Given the description of an element on the screen output the (x, y) to click on. 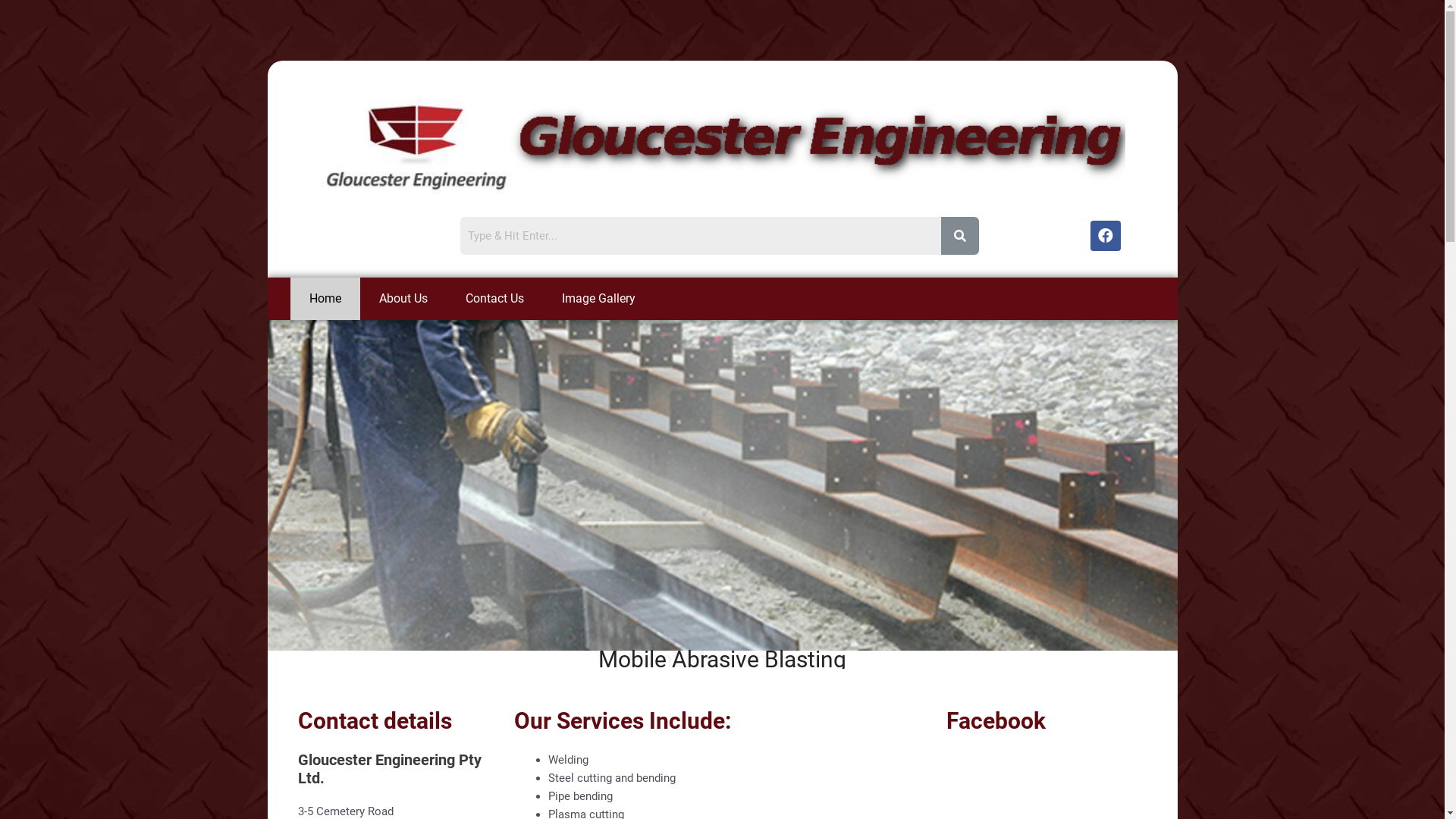
About Us Element type: text (402, 298)
Facebook Element type: text (1105, 235)
Contact Us Element type: text (493, 298)
Home Element type: text (324, 298)
Image Gallery Element type: text (598, 298)
Search Element type: hover (699, 235)
